Given the description of an element on the screen output the (x, y) to click on. 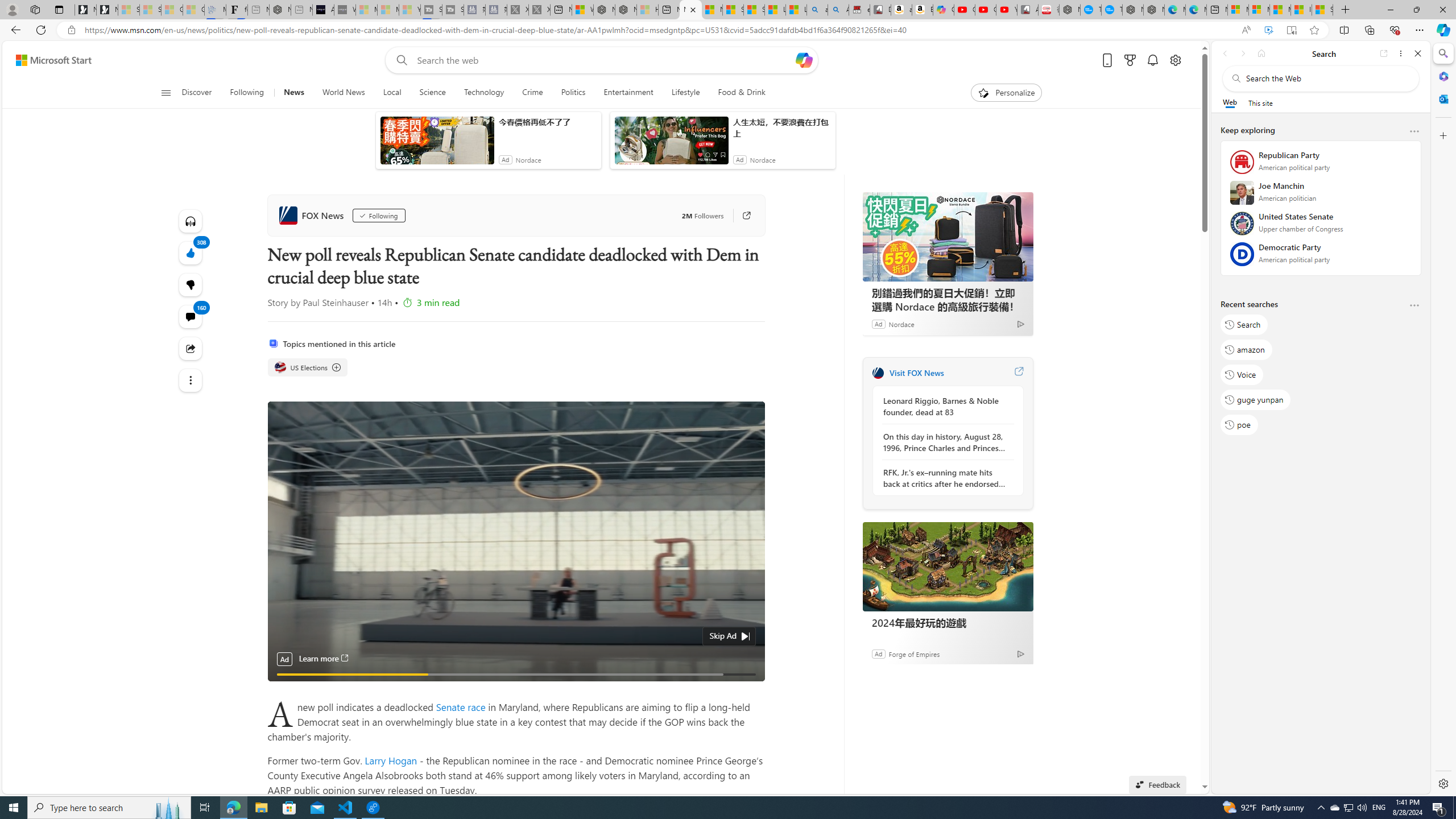
Learn more (323, 658)
Local (392, 92)
amazon (1246, 349)
Pause (284, 687)
video progress bar (515, 674)
Senate race  (462, 706)
Republican Party American political party (1321, 164)
